Given the description of an element on the screen output the (x, y) to click on. 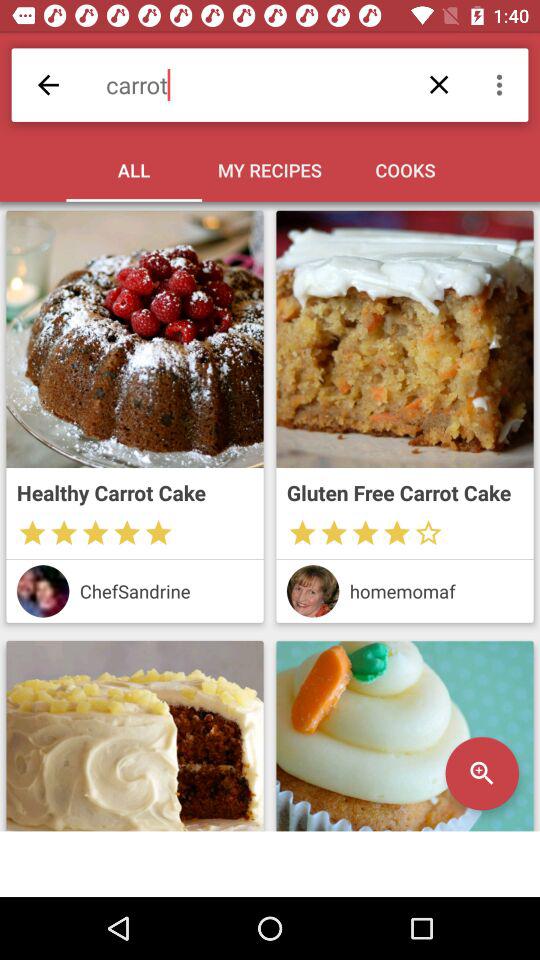
press item next to carrot icon (48, 84)
